Given the description of an element on the screen output the (x, y) to click on. 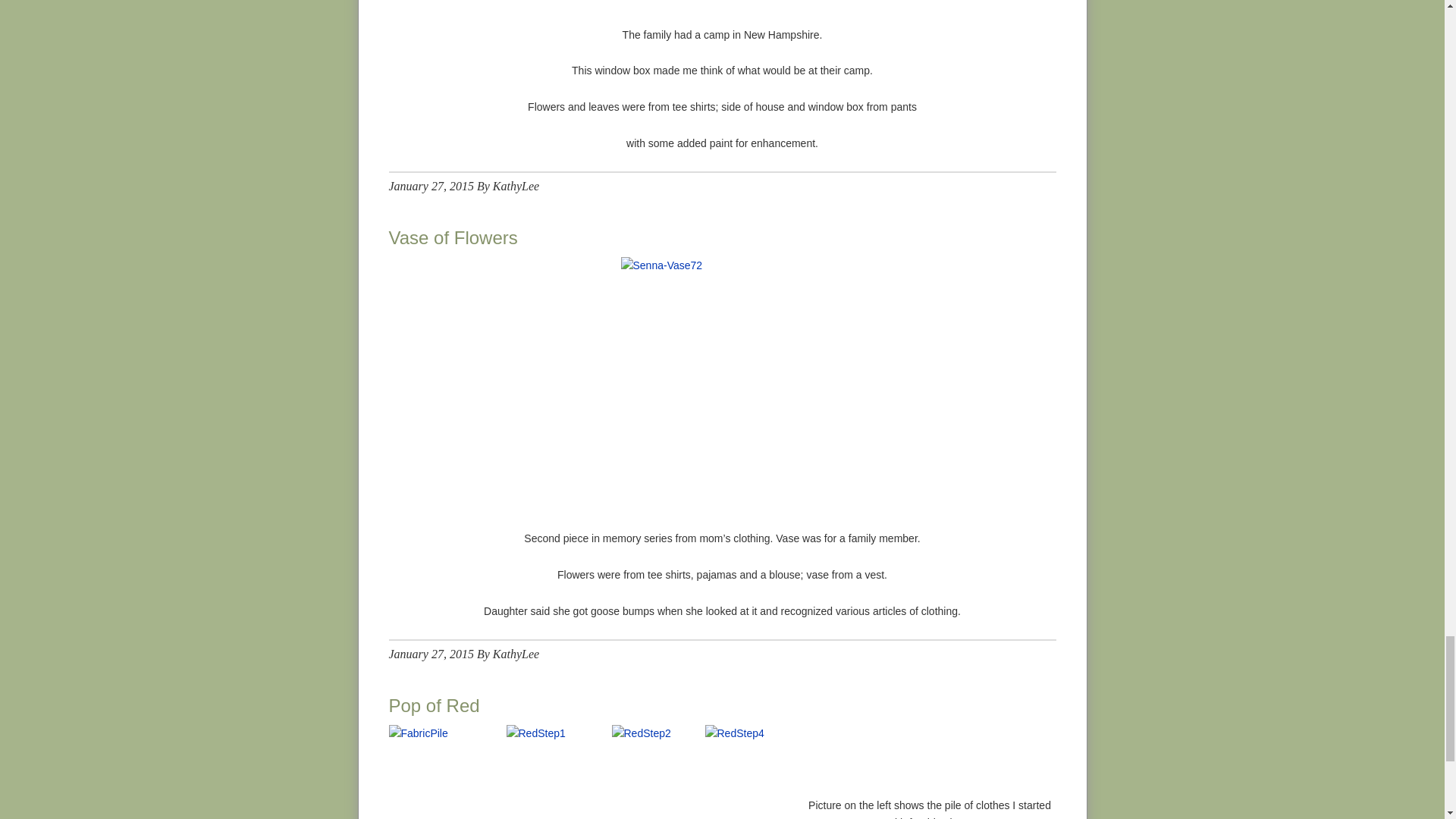
Pop of Red (433, 704)
Vase of Flowers (452, 237)
